Given the description of an element on the screen output the (x, y) to click on. 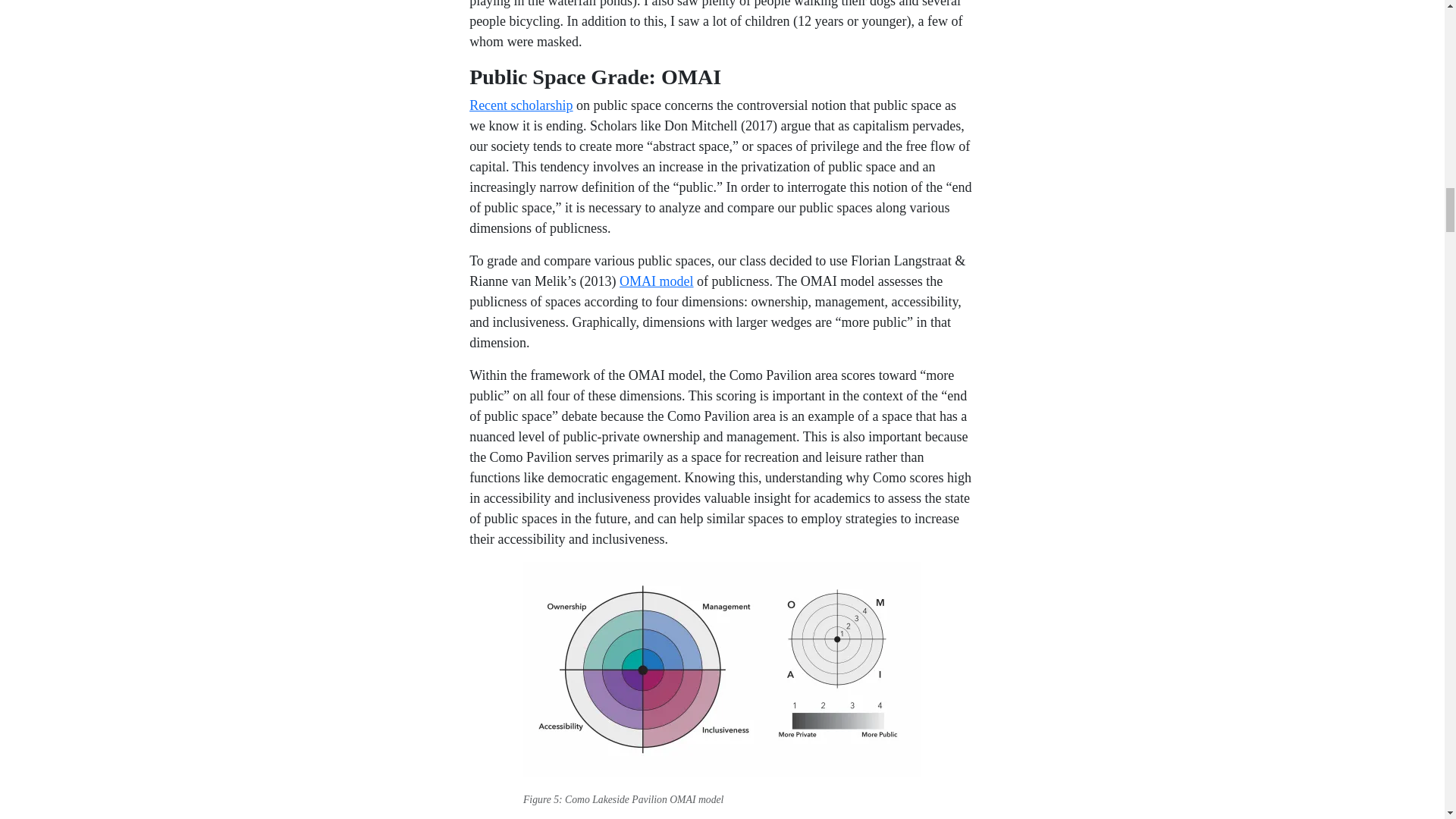
OMAI model (657, 281)
Recent scholarship (520, 105)
